Given the description of an element on the screen output the (x, y) to click on. 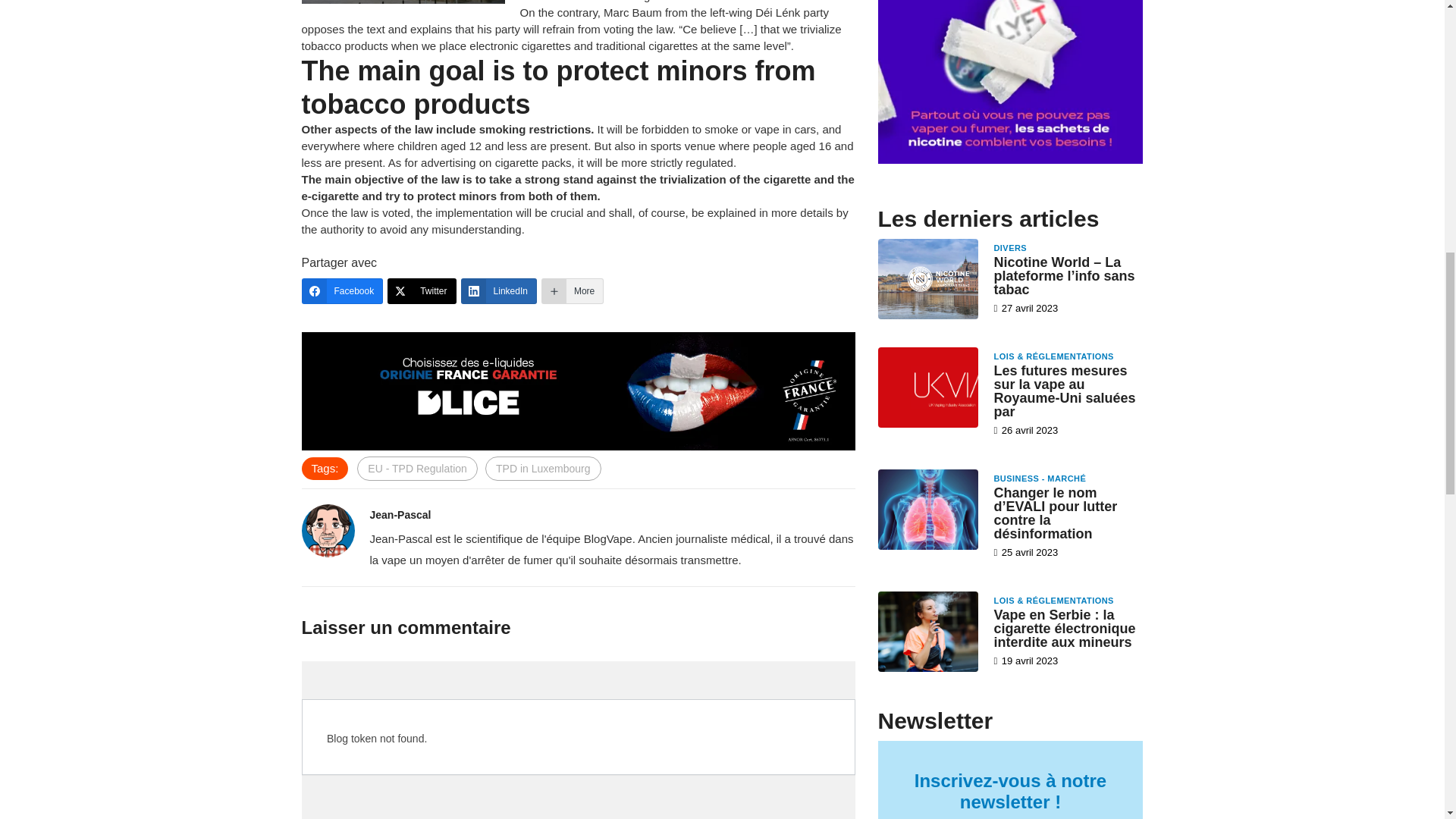
Formulaire de commentaire (578, 739)
